Given the description of an element on the screen output the (x, y) to click on. 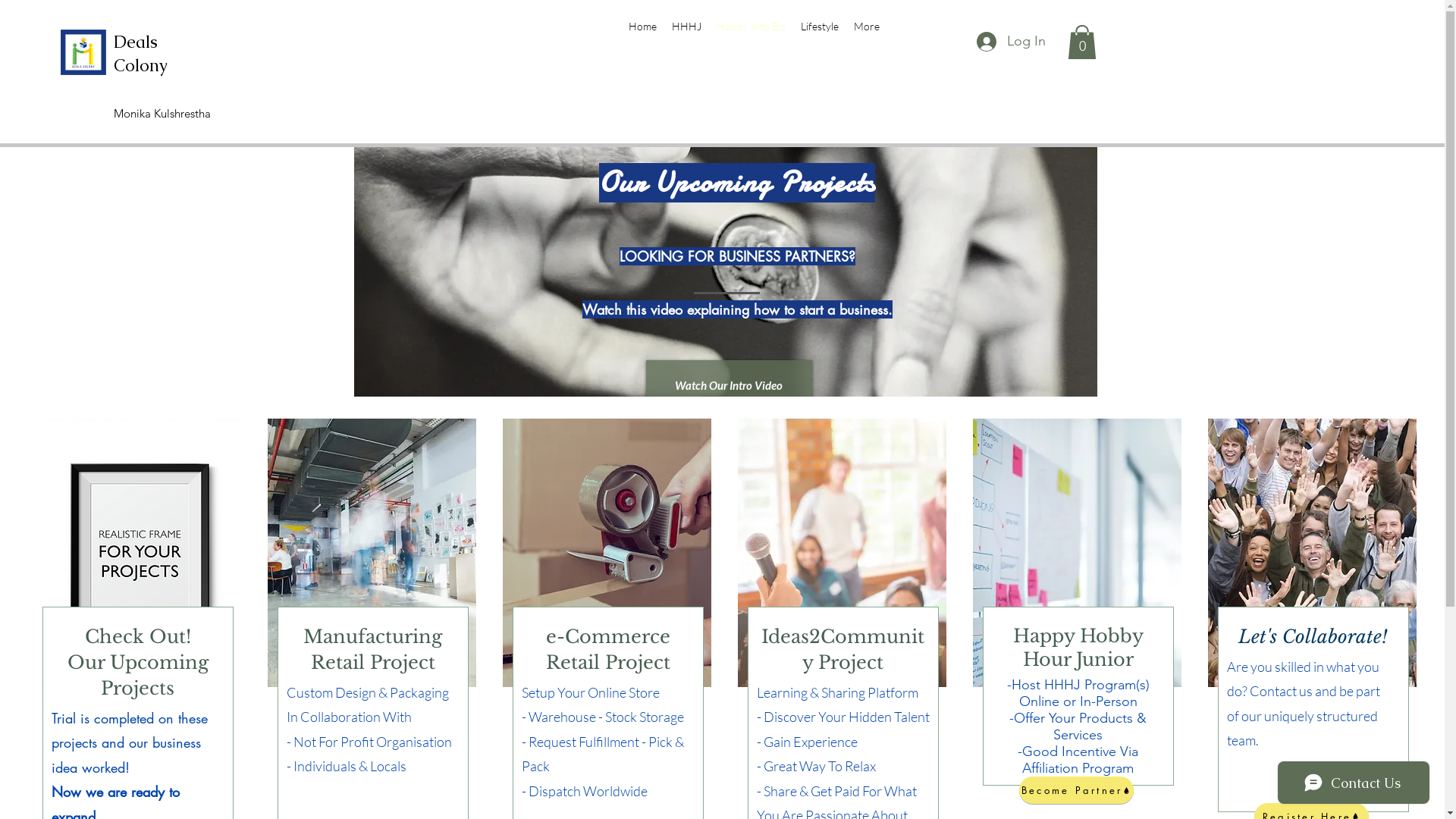
Lifestyle Element type: text (819, 26)
Deals Colony Element type: text (140, 53)
Log In Element type: text (1011, 41)
Become Partner Element type: text (1076, 789)
HHHJ Element type: text (686, 26)
0 Element type: text (1081, 42)
Hobby Into Biz Element type: text (750, 26)
Home Element type: text (641, 26)
Watch Our Intro Video Element type: text (729, 385)
